Given the description of an element on the screen output the (x, y) to click on. 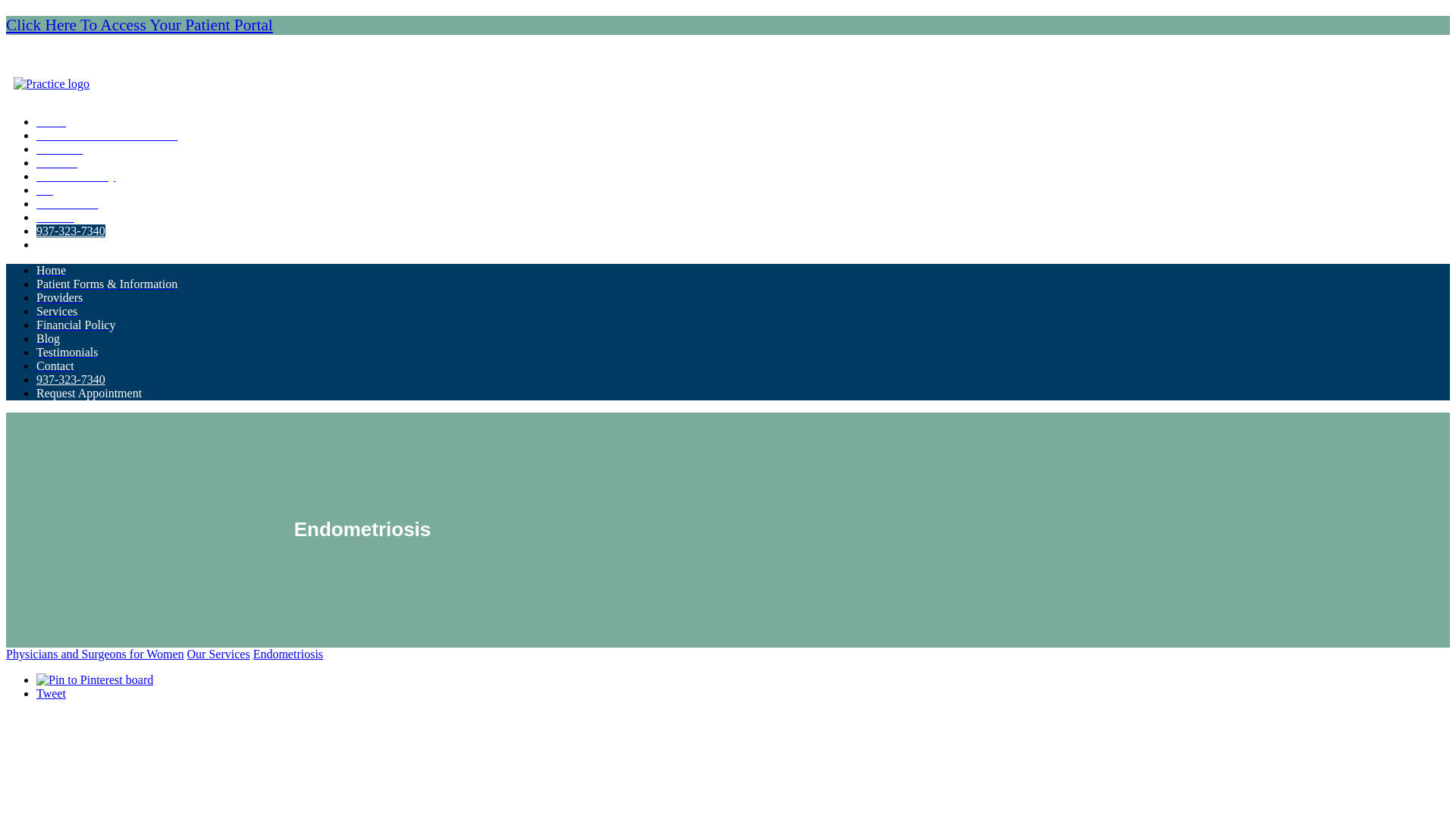
Blog (47, 189)
Providers (59, 297)
Providers (59, 148)
Blog (47, 338)
Financial Policy (75, 324)
Home (50, 269)
Click Here To Access Your Patient Portal (139, 24)
937-323-7340 (70, 379)
Contact (55, 365)
Services (56, 162)
Contact (55, 216)
Request Appointment (88, 244)
937-323-7340 (70, 230)
Testimonials (67, 203)
